Given the description of an element on the screen output the (x, y) to click on. 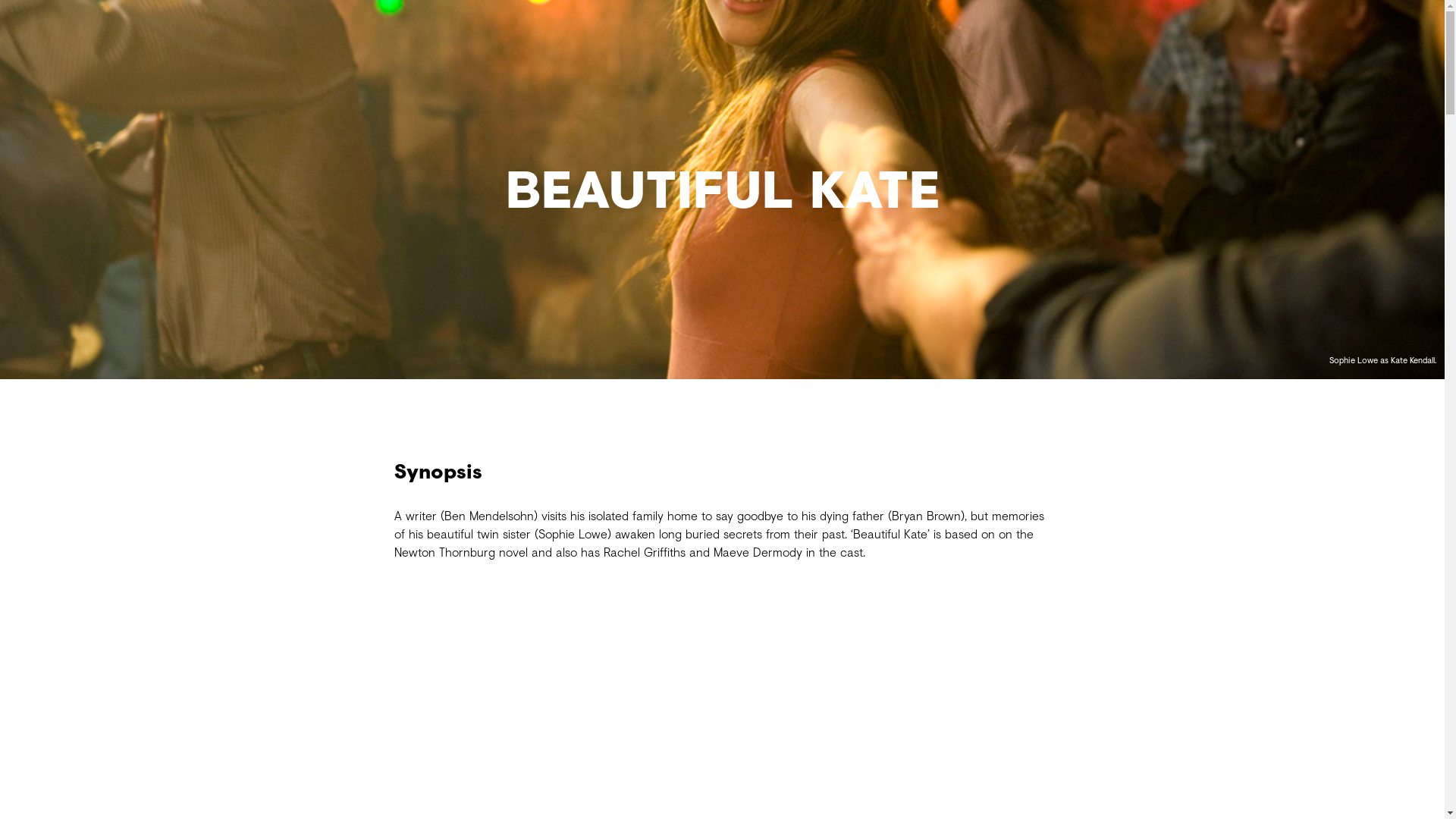
New Town Films Element type: hover (721, 72)
New Town Films Element type: hover (721, 72)
